Given the description of an element on the screen output the (x, y) to click on. 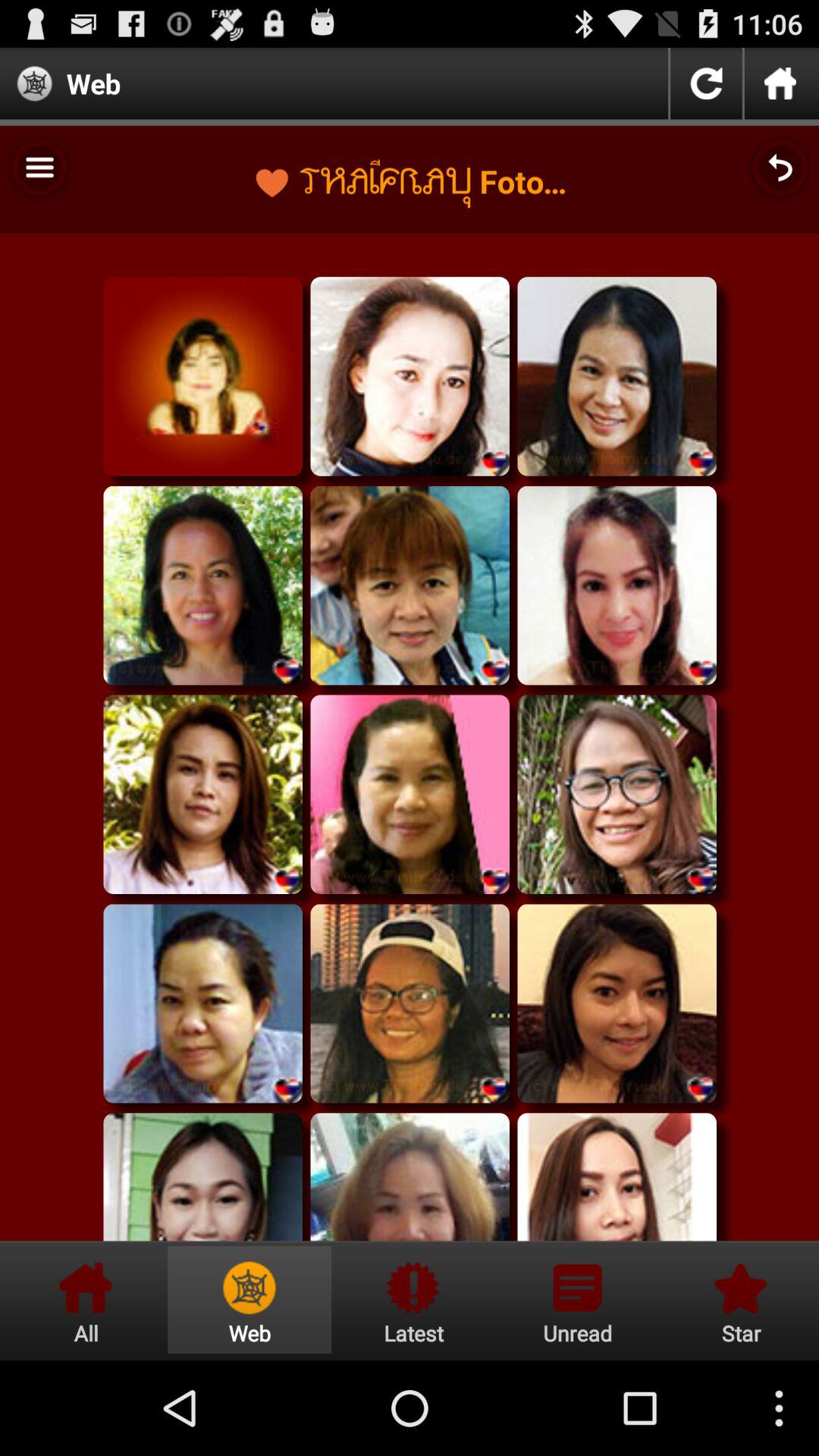
refresh (706, 83)
